Given the description of an element on the screen output the (x, y) to click on. 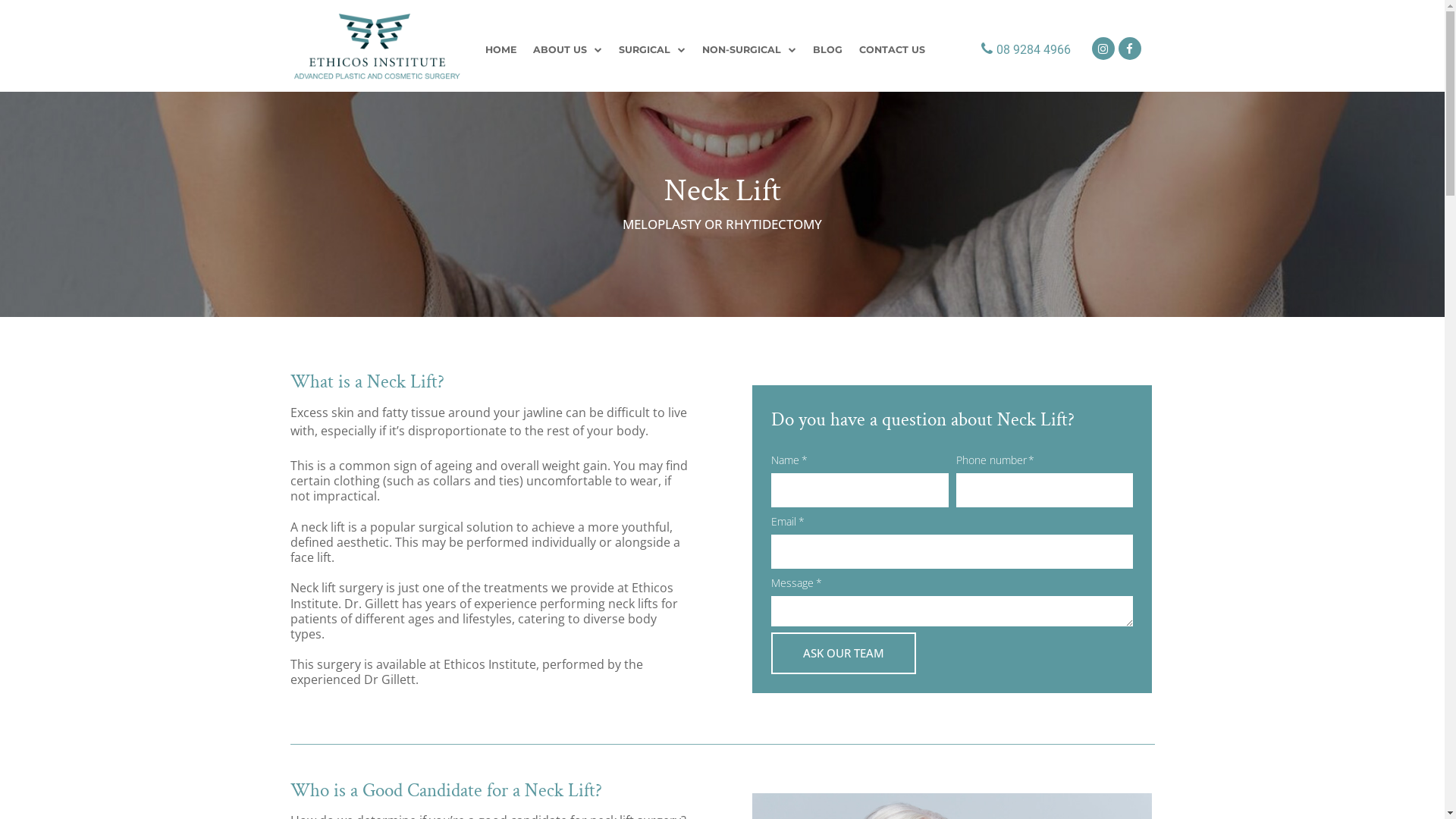
08 9284 4966 Element type: text (1022, 49)
NON-SURGICAL Element type: text (749, 49)
BLOG Element type: text (827, 49)
SURGICAL Element type: text (652, 49)
HOME Element type: text (500, 49)
CONTACT US Element type: text (891, 49)
ABOUT US Element type: text (567, 49)
ASK OUR TEAM Element type: text (843, 653)
